Given the description of an element on the screen output the (x, y) to click on. 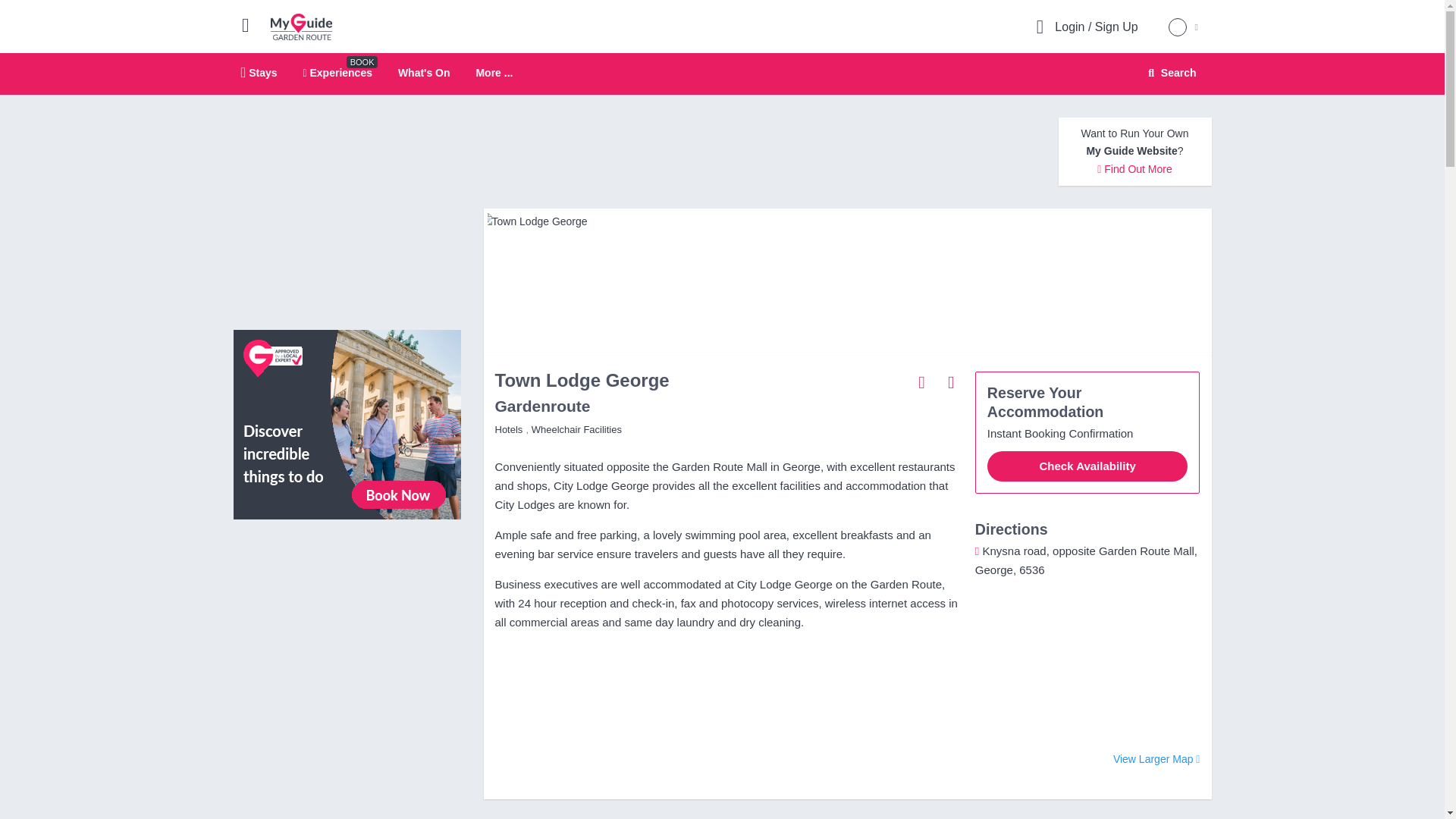
Search (1169, 72)
Larger Map for Company: Town Lodge George Gardenroute (1156, 760)
My Guide Garden Route (300, 25)
Share with Friends (922, 381)
Search Website (1170, 73)
View All Experiences (346, 423)
What's On (721, 74)
More ... (423, 72)
Town Lodge George (494, 72)
Add to My Guide (846, 221)
Toggle Menu (950, 381)
Experiences (251, 24)
Stays (337, 72)
